Given the description of an element on the screen output the (x, y) to click on. 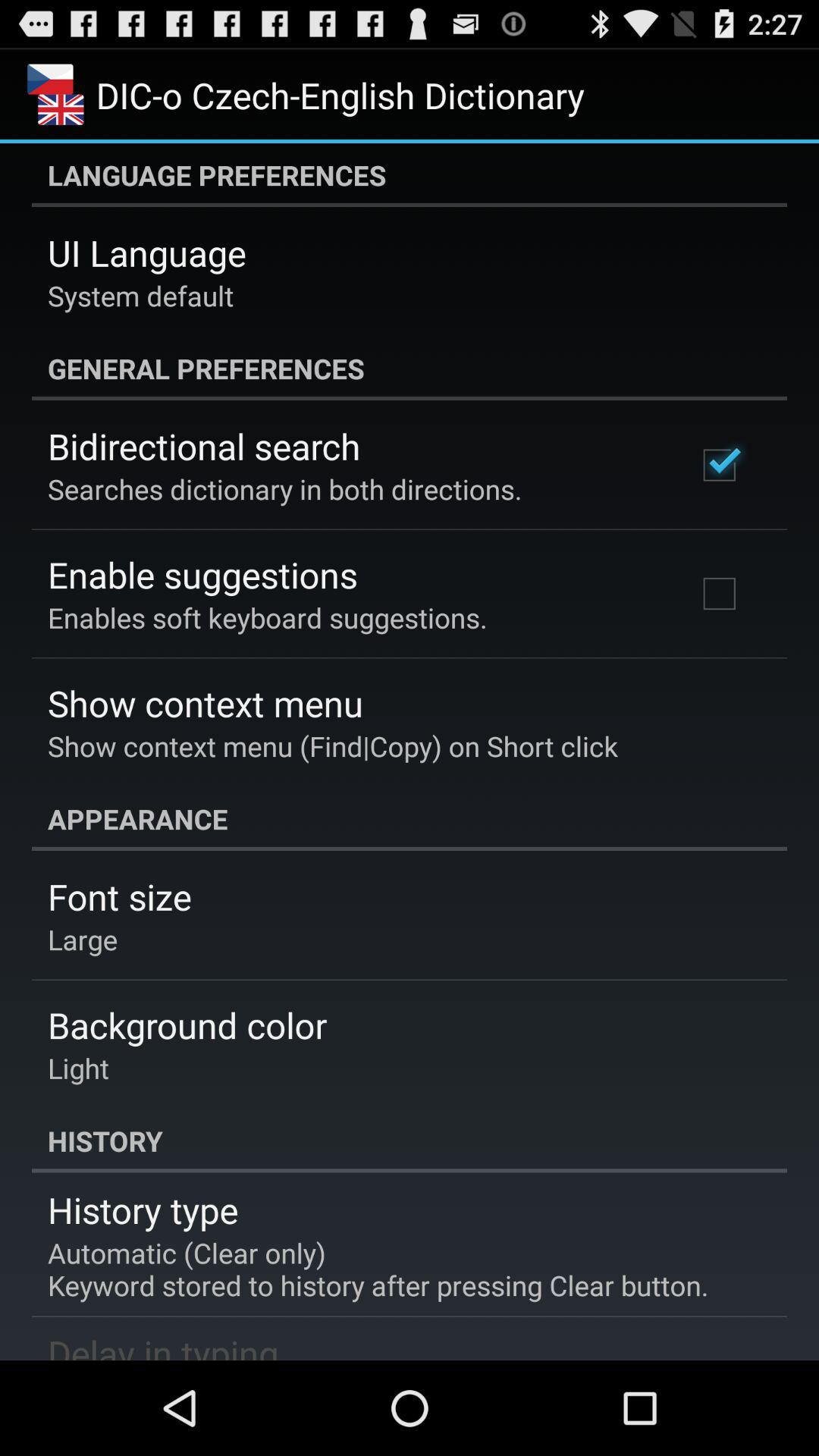
turn off app above background color item (82, 939)
